Given the description of an element on the screen output the (x, y) to click on. 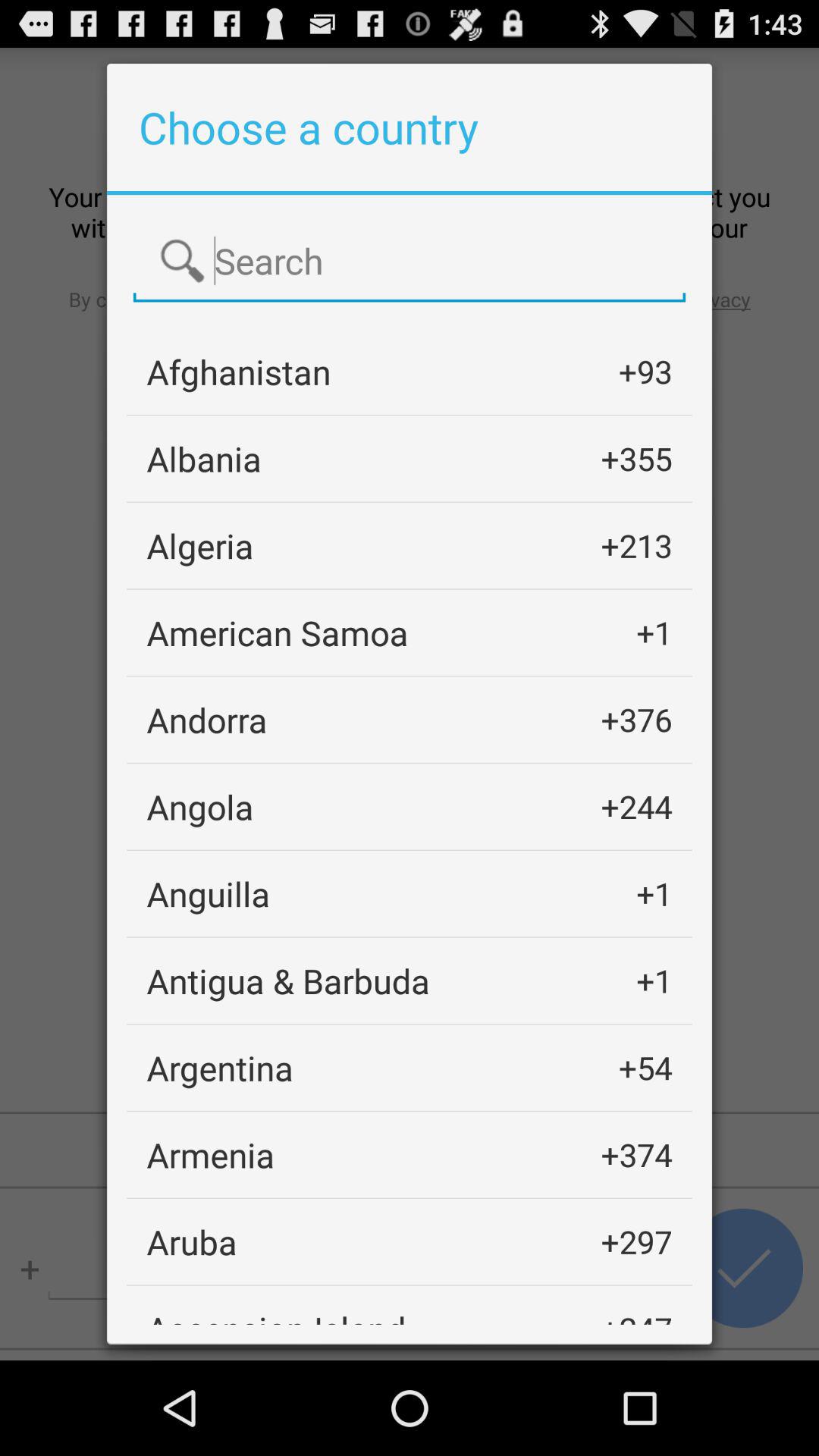
open the item to the right of aruba app (636, 1241)
